Given the description of an element on the screen output the (x, y) to click on. 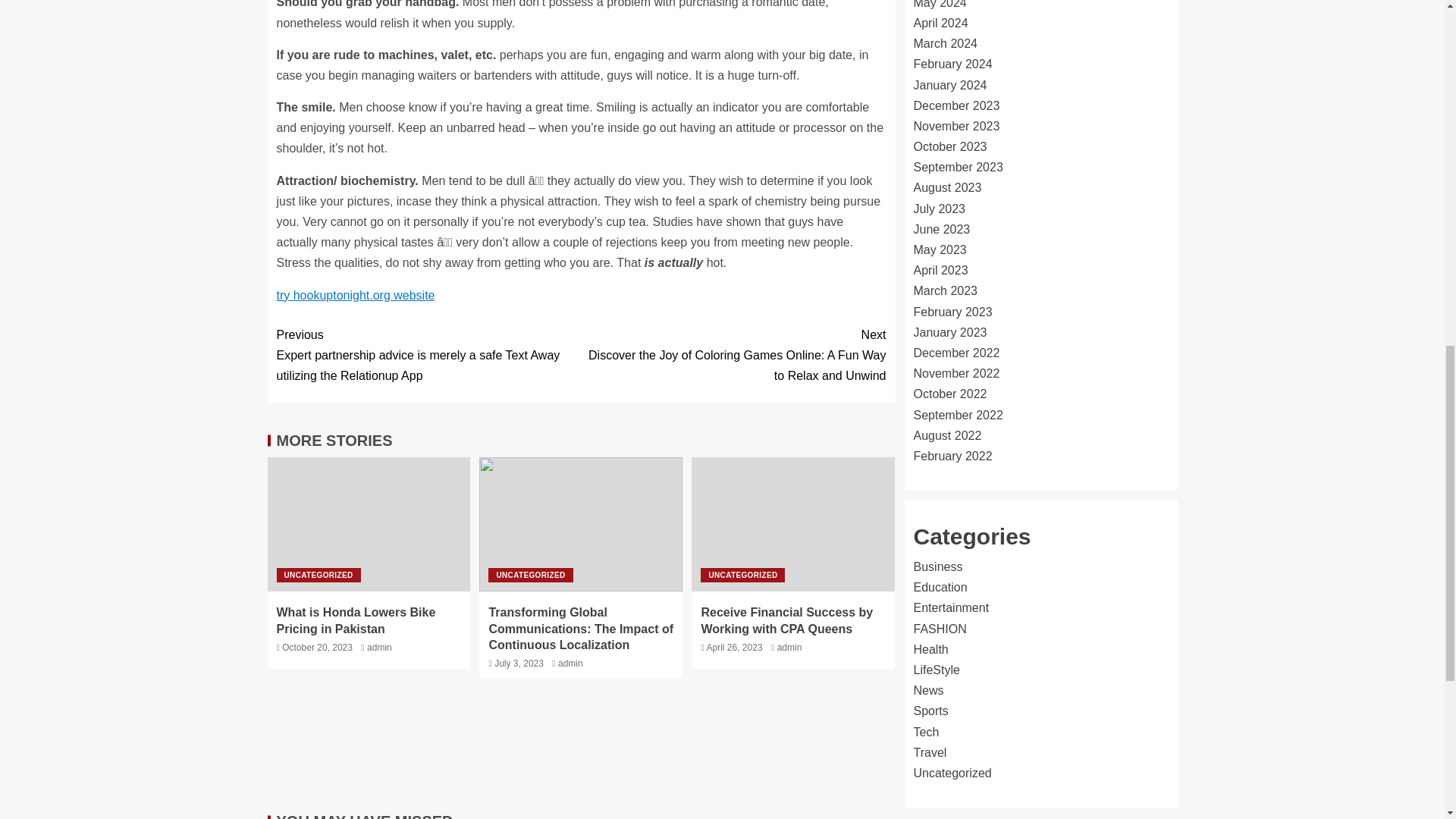
UNCATEGORIZED (529, 575)
admin (570, 663)
What is Honda Lowers Bike Pricing in Pakistan (355, 620)
try hookuptonight.org website (354, 295)
admin (789, 647)
UNCATEGORIZED (742, 575)
UNCATEGORIZED (317, 575)
